Given the description of an element on the screen output the (x, y) to click on. 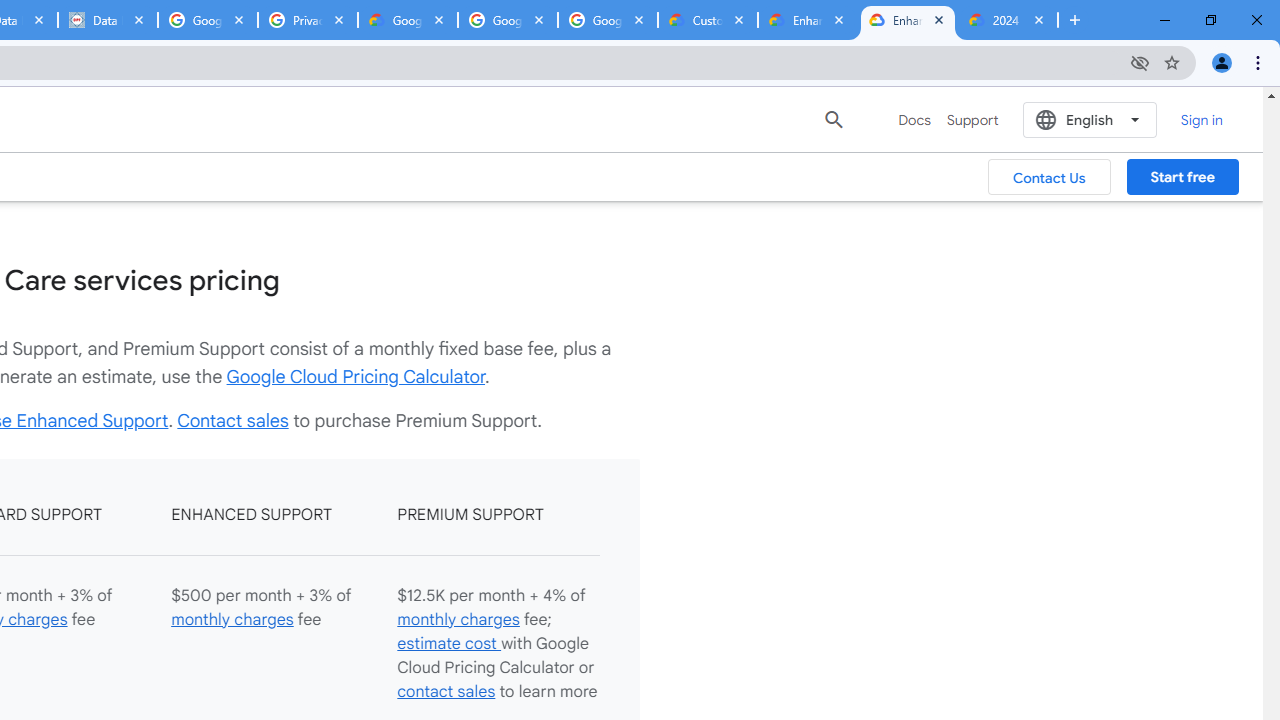
Support (972, 119)
Enhanced Support | Google Cloud (907, 20)
Google Workspace - Specific Terms (508, 20)
Start free (1182, 177)
Third-party cookies blocked (1139, 62)
Google Cloud Terms Directory | Google Cloud (408, 20)
Google Workspace - Specific Terms (607, 20)
estimate cost  (448, 642)
Contact Us (1049, 177)
